Given the description of an element on the screen output the (x, y) to click on. 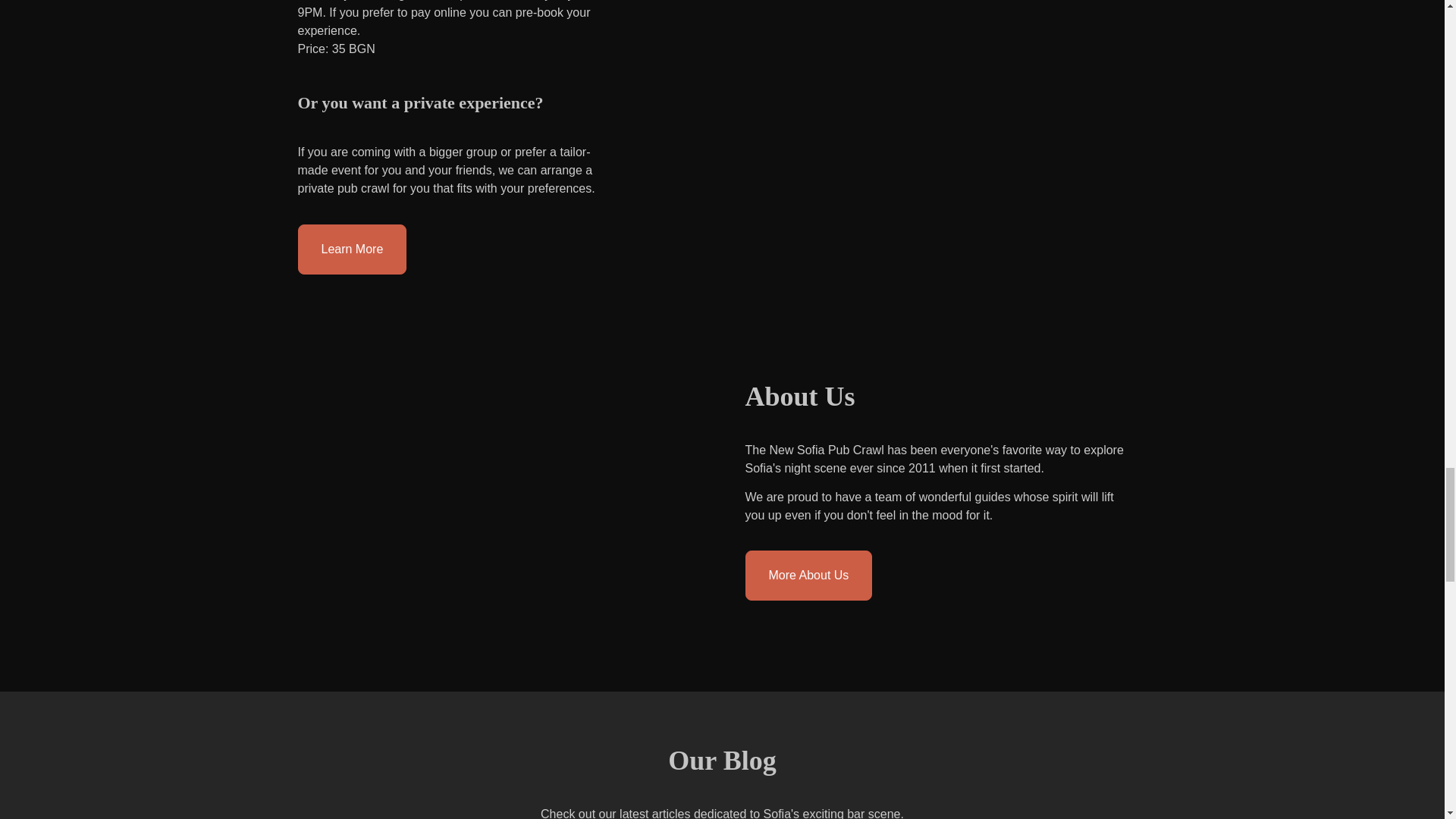
Learn More (351, 249)
About Us (937, 396)
Or you want a private experience? (449, 103)
More About Us (808, 575)
Our Blog (722, 760)
